Given the description of an element on the screen output the (x, y) to click on. 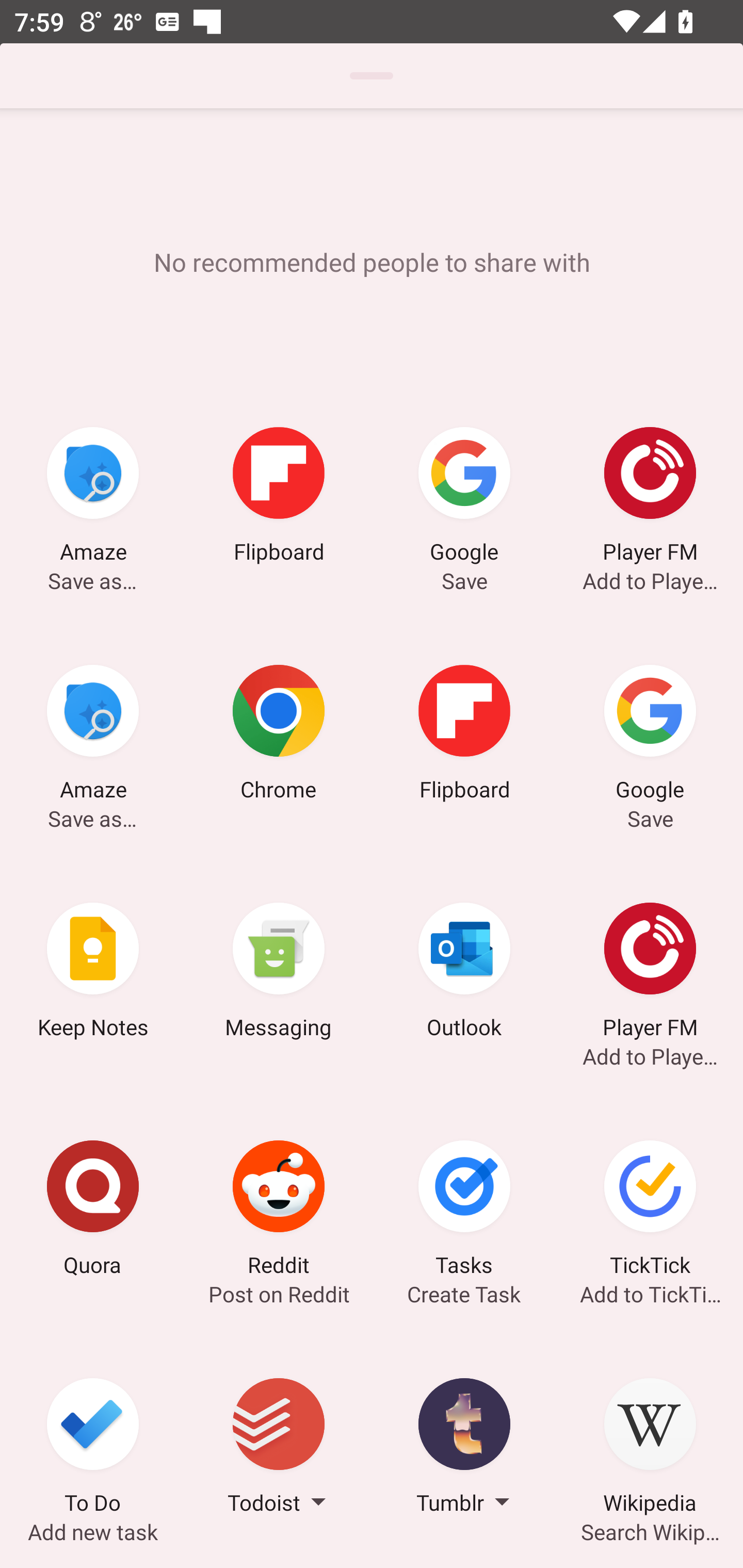
Amaze Save as… (92, 497)
Flipboard (278, 497)
Google Save (464, 497)
Player FM Add to Player FM (650, 497)
Amaze Save as… (92, 735)
Chrome (278, 735)
Flipboard (464, 735)
Google Save (650, 735)
Keep Notes (92, 973)
Messaging (278, 973)
Outlook (464, 973)
Player FM Add to Player FM (650, 973)
Quora (92, 1210)
Reddit Post on Reddit (278, 1210)
Tasks Create Task (464, 1210)
TickTick Add to TickTick (650, 1210)
To Do Add new task (92, 1448)
Todoist (278, 1448)
Tumblr (464, 1448)
Wikipedia Search Wikipedia (650, 1448)
